Given the description of an element on the screen output the (x, y) to click on. 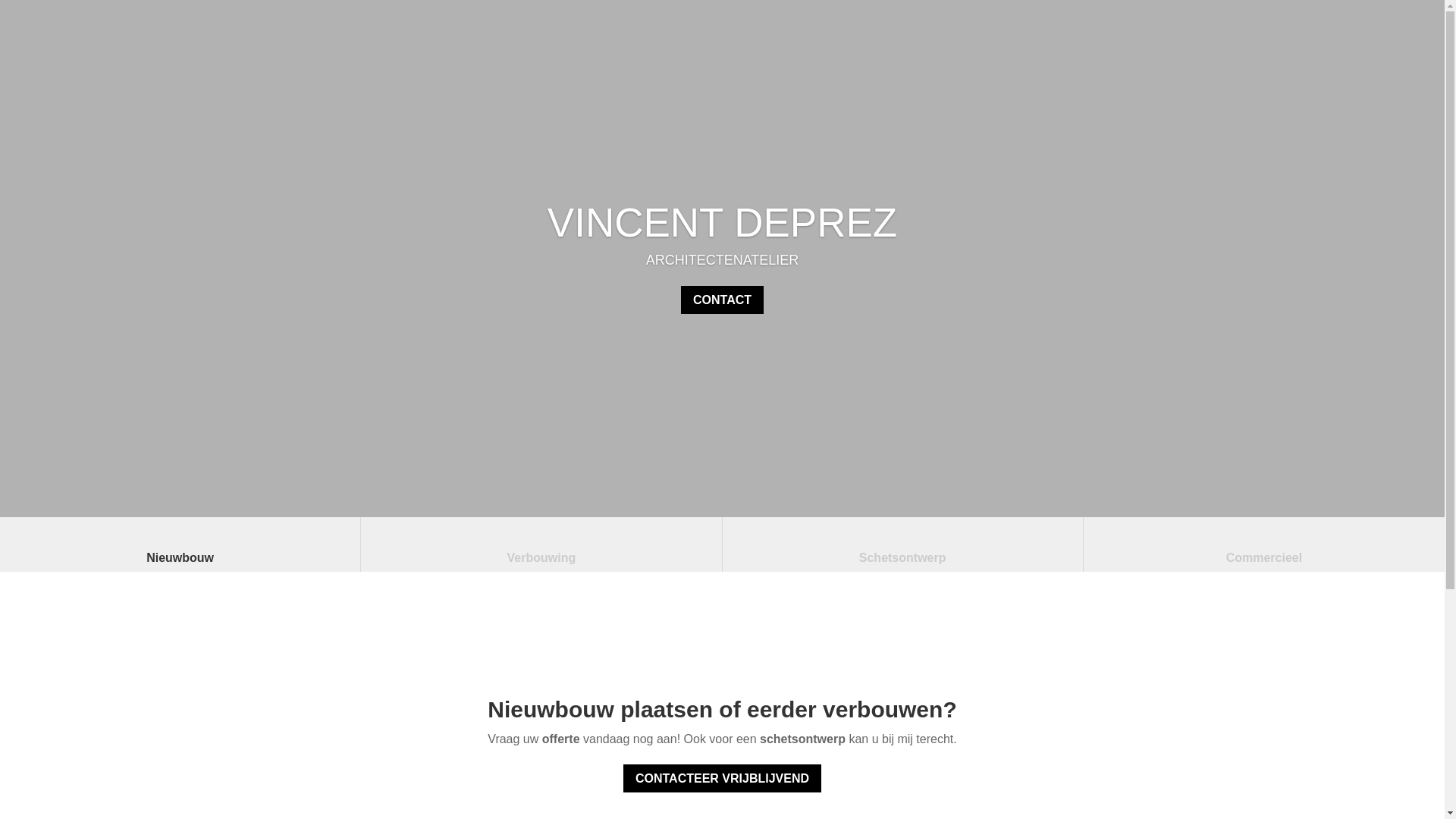
VINCENT DEPREZ Element type: text (722, 222)
CONTACT Element type: text (721, 299)
Schetsontwerp Element type: text (901, 547)
Nieuwbouw Element type: text (180, 547)
CONTACTEER VRIJBLIJVEND Element type: text (722, 778)
Verbouwing Element type: text (540, 547)
Commercieel Element type: text (1263, 547)
